Given the description of an element on the screen output the (x, y) to click on. 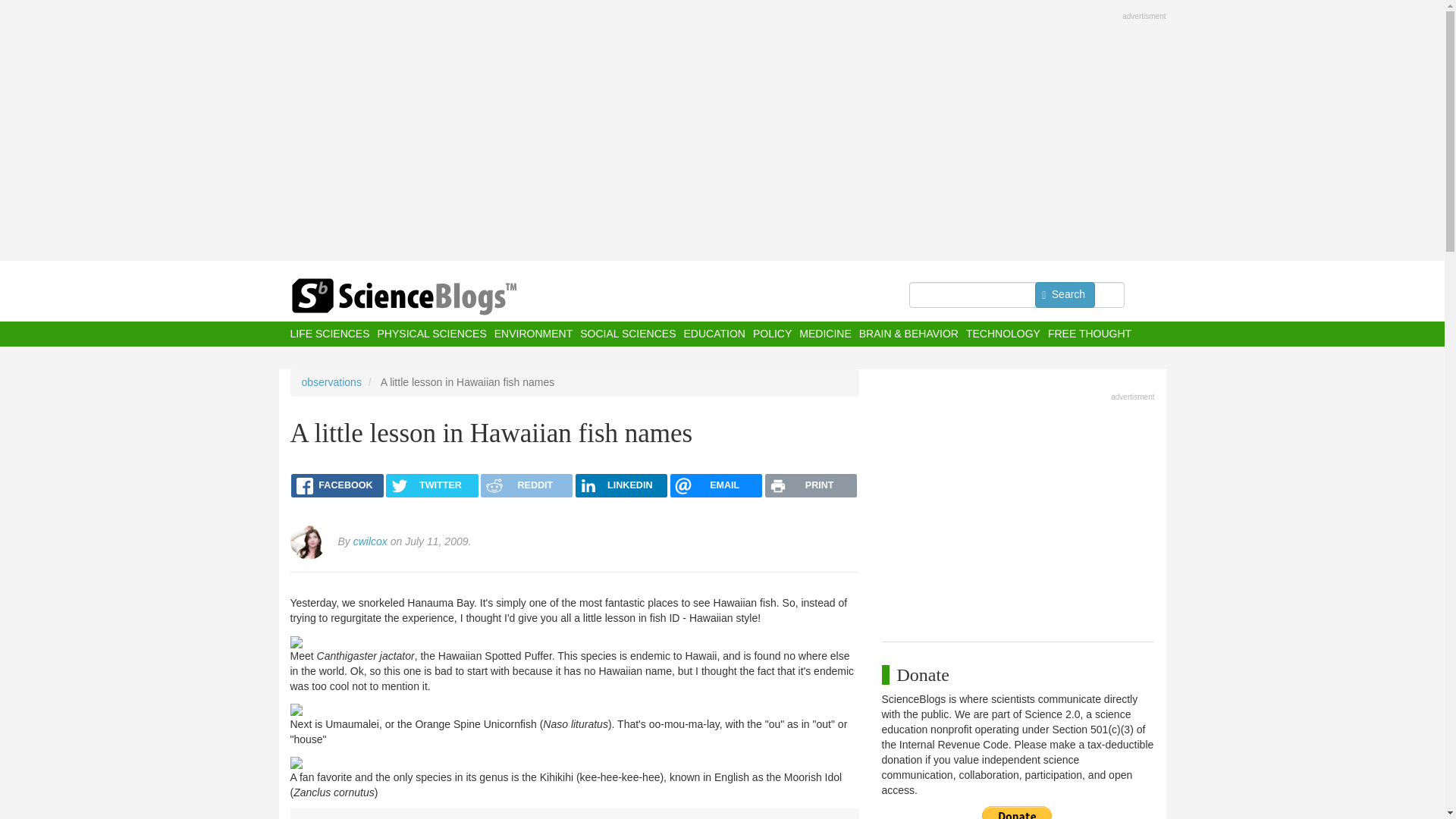
REDDIT (526, 485)
LINKEDIN (620, 485)
TECHNOLOGY (1003, 334)
POLICY (772, 334)
Search (1064, 294)
SOCIAL SCIENCES (627, 334)
LIFE SCIENCES (329, 334)
View user profile. (370, 541)
MEDICINE (824, 334)
observations (331, 381)
PHYSICAL SCIENCES (431, 334)
ENVIRONMENT (533, 334)
EDUCATION (713, 334)
PayPal - The safer, easier way to pay online! (1016, 812)
Advertisement (1017, 512)
